Given the description of an element on the screen output the (x, y) to click on. 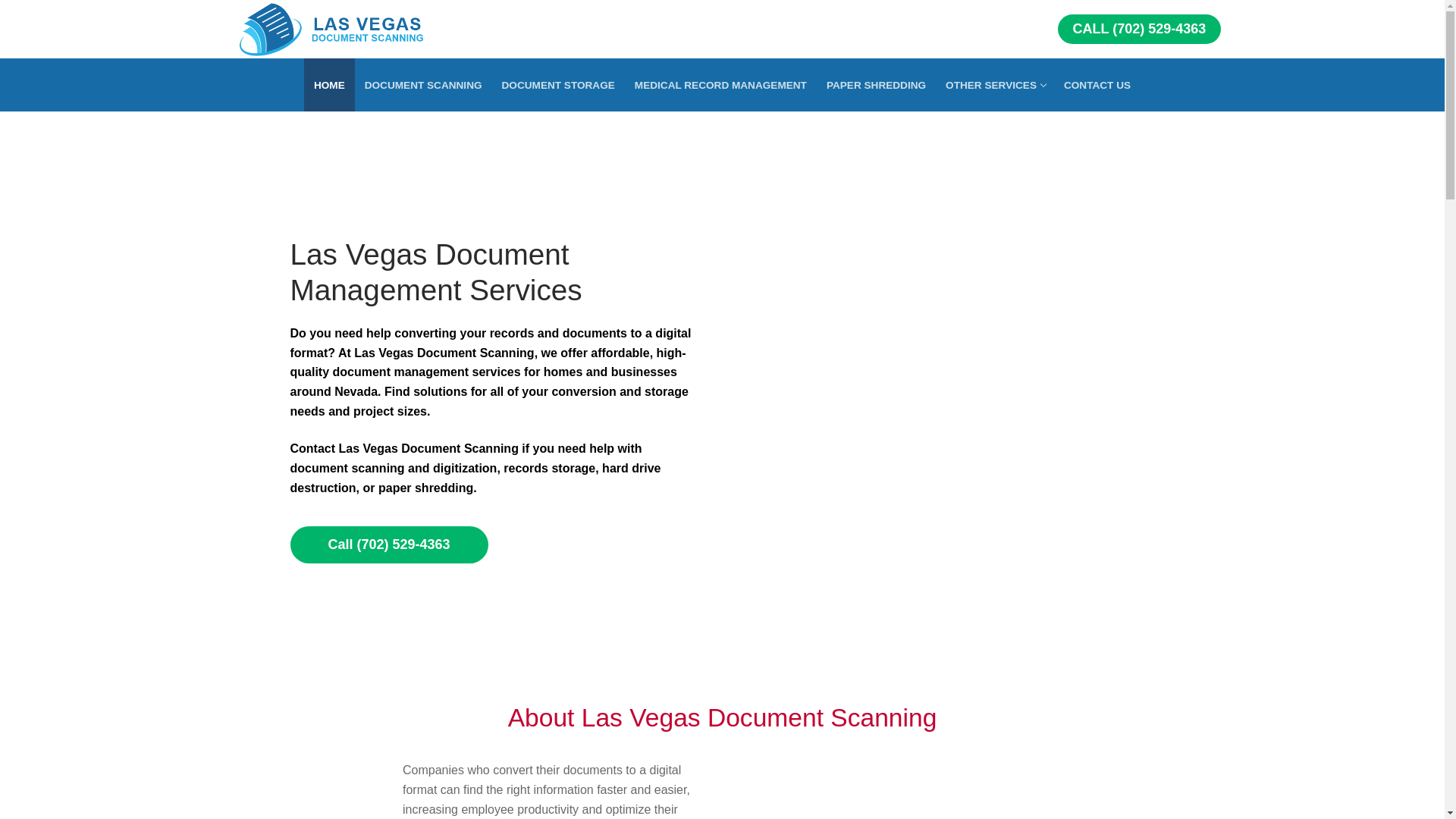
CONTACT US (1097, 84)
HOME (329, 84)
DOCUMENT SCANNING (423, 84)
MEDICAL RECORD MANAGEMENT (720, 84)
PAPER SHREDDING (876, 84)
DOCUMENT STORAGE (558, 84)
